Given the description of an element on the screen output the (x, y) to click on. 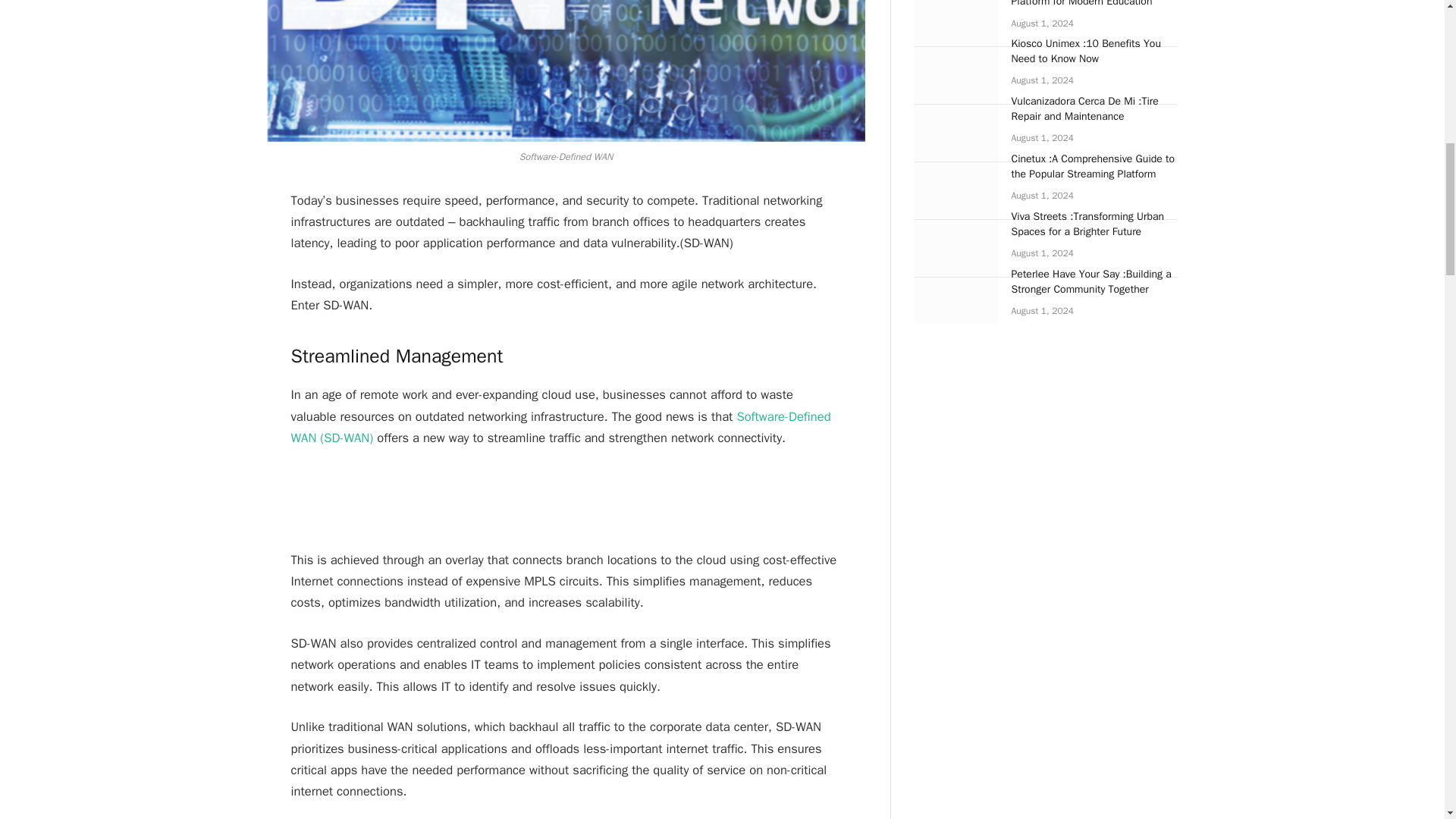
Aula Unimex :A Revolutionary Platform for Modern Education (955, 17)
Kiosco Unimex :10 Benefits You Need to Know Now (955, 63)
How SD-WAN is Revolutionizing Cloud Connectivity (565, 70)
Vulcanizadora Cerca De Mi :Tire Repair and Maintenance (955, 120)
